Given the description of an element on the screen output the (x, y) to click on. 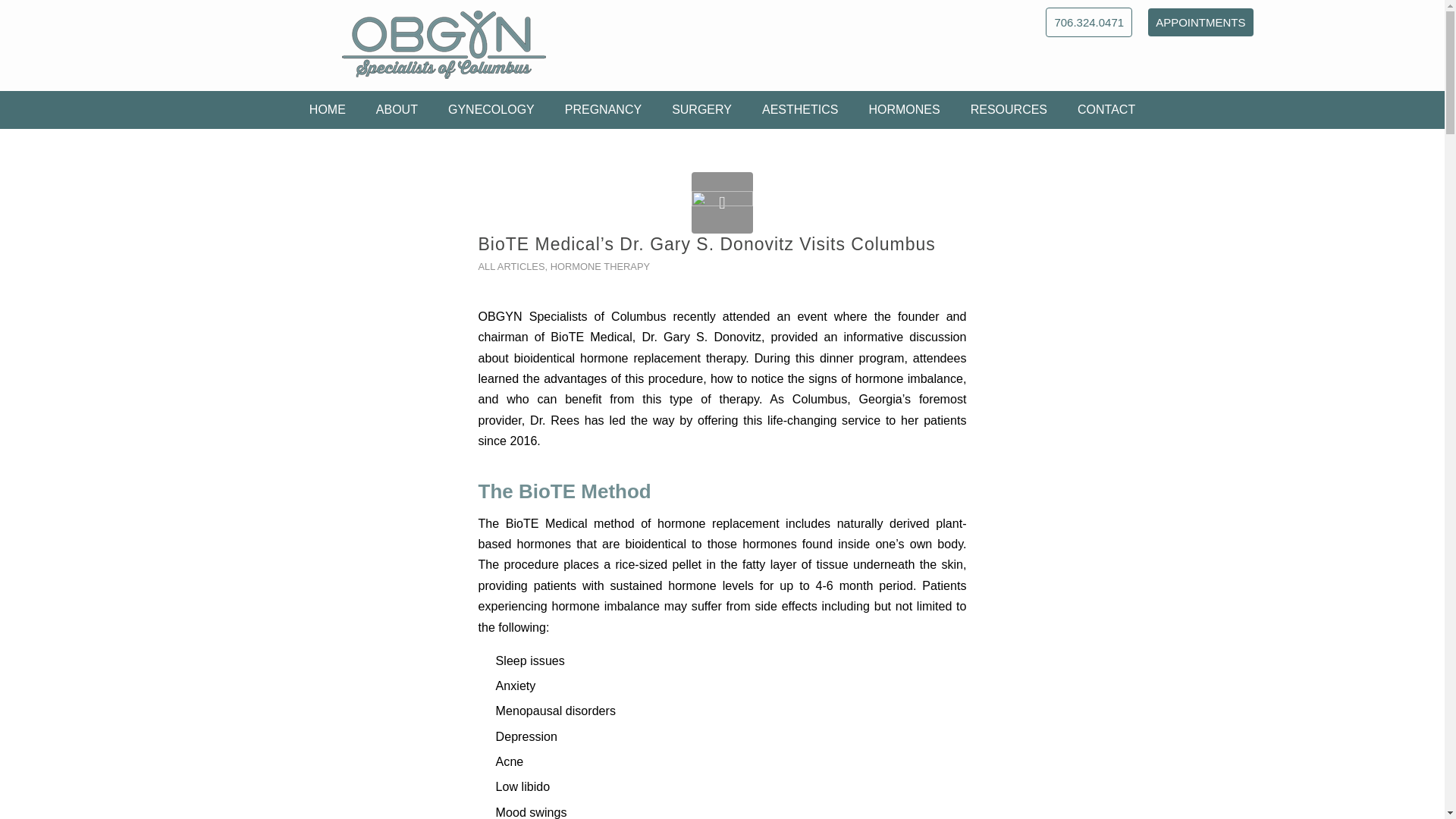
706.324.0471 (1088, 21)
AESTHETICS (799, 109)
blog-11 (721, 202)
RESOURCES (1008, 109)
HORMONES (904, 109)
GYNECOLOGY (491, 109)
PREGNANCY (603, 109)
SURGERY (701, 109)
HOME (327, 109)
APPOINTMENTS (1200, 22)
